Given the description of an element on the screen output the (x, y) to click on. 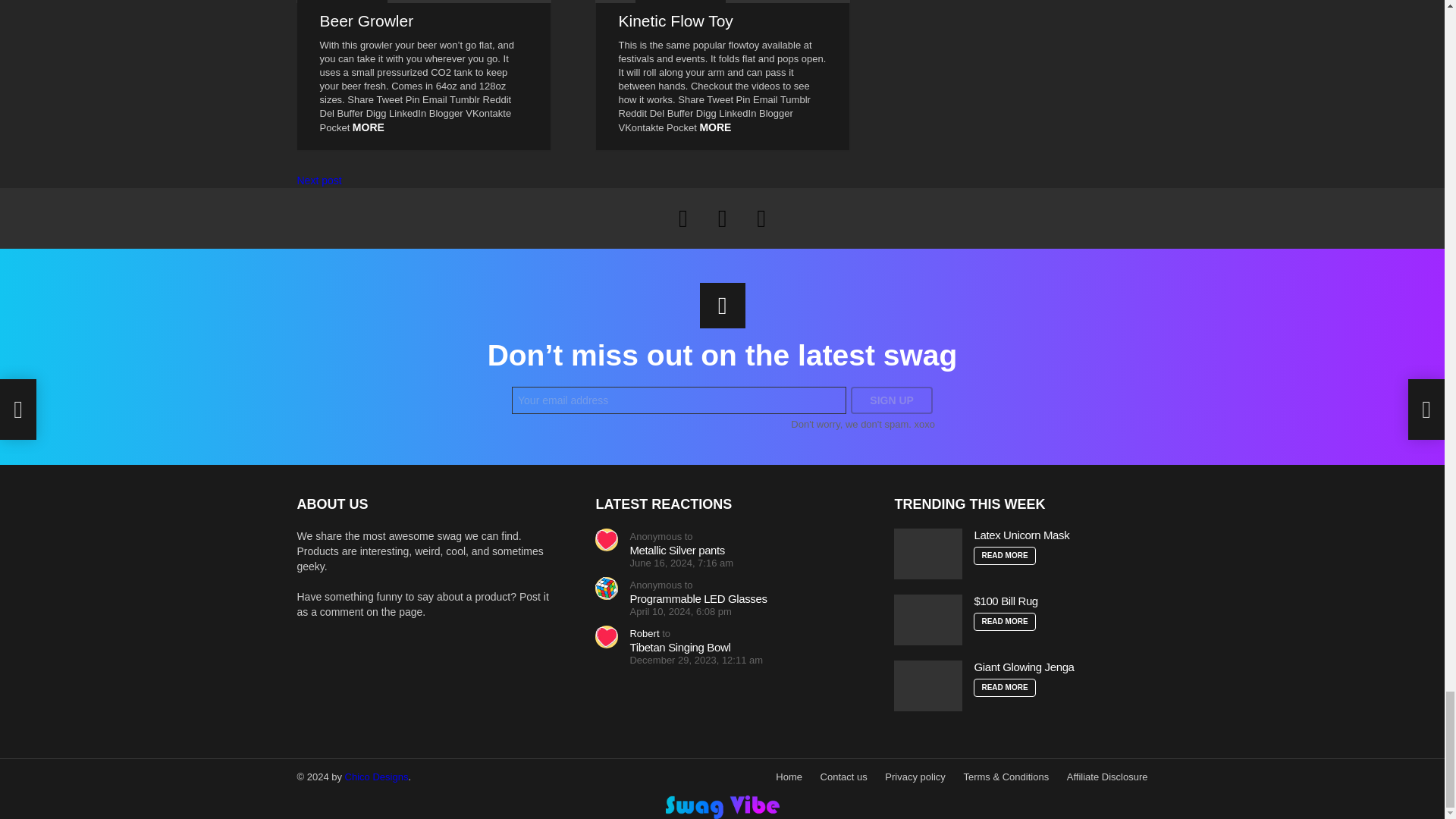
Sign up (891, 400)
